Given the description of an element on the screen output the (x, y) to click on. 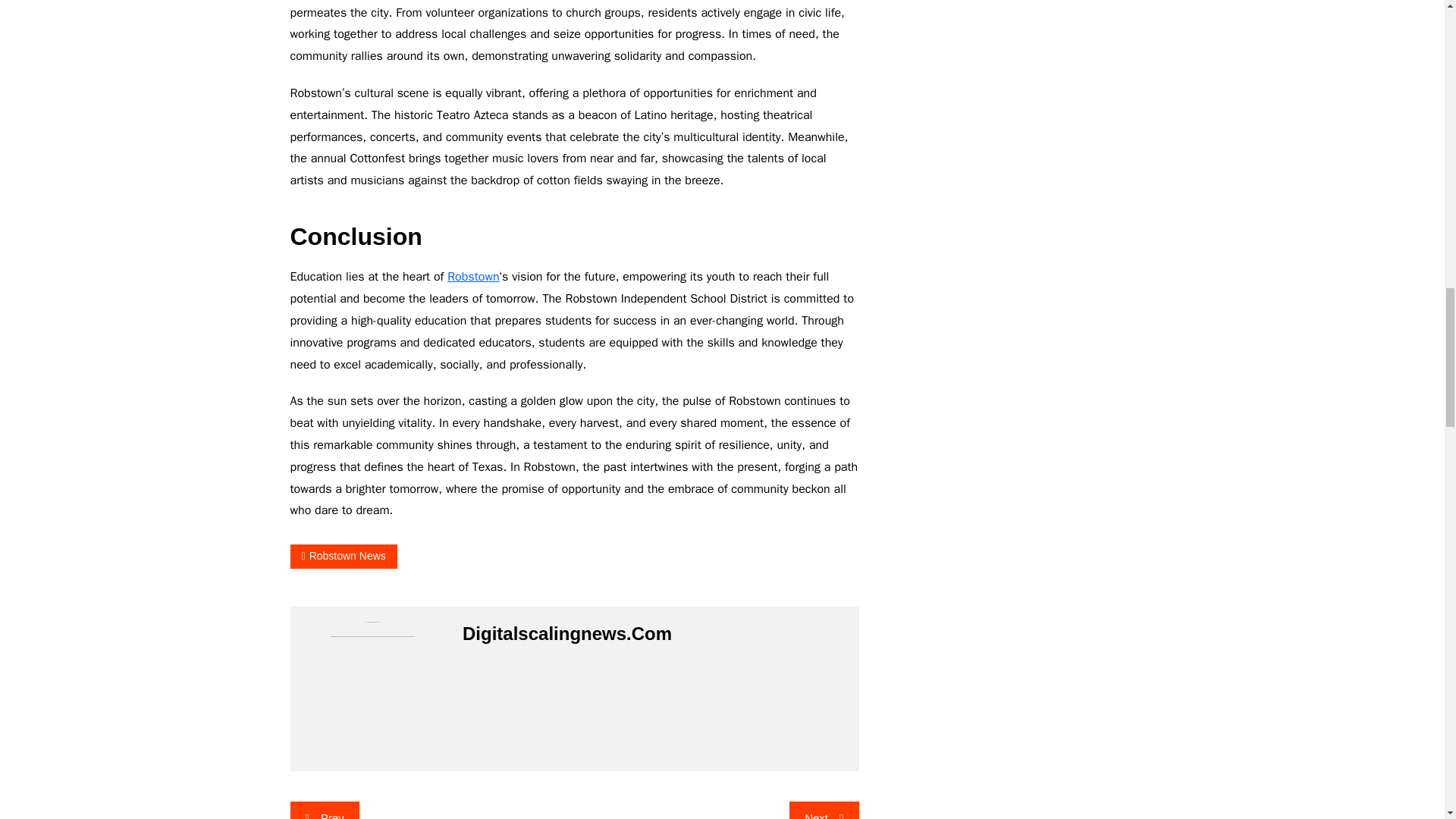
Robstown News (342, 556)
Prev (323, 810)
Next (824, 810)
Robstown (472, 276)
